Given the description of an element on the screen output the (x, y) to click on. 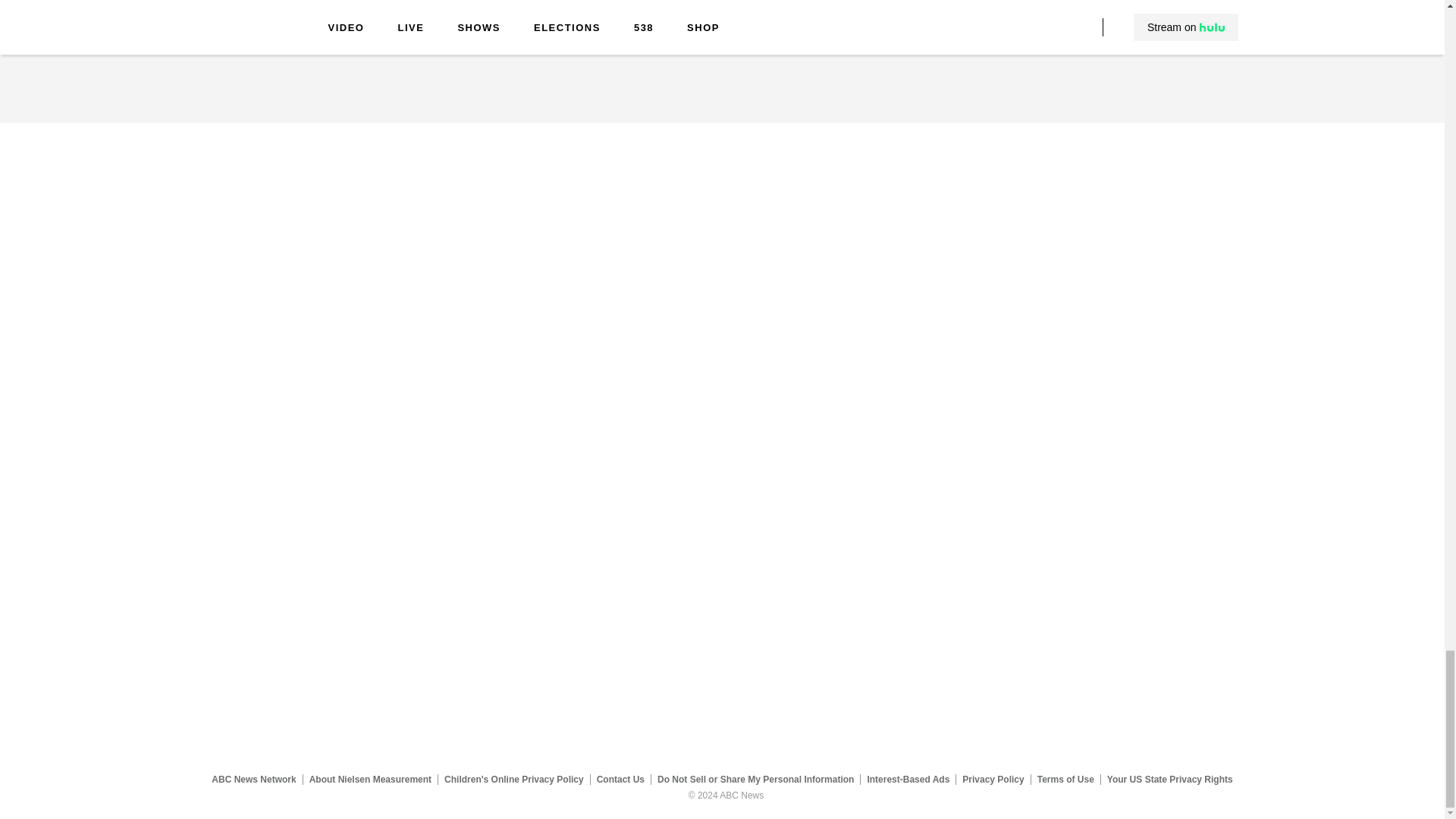
Contact Us (620, 778)
ABC News Network (253, 778)
Children's Online Privacy Policy (514, 778)
Privacy Policy (993, 778)
Interest-Based Ads (908, 778)
About Nielsen Measurement (370, 778)
Terms of Use (1065, 778)
Your US State Privacy Rights (1169, 778)
Do Not Sell or Share My Personal Information (755, 778)
